Given the description of an element on the screen output the (x, y) to click on. 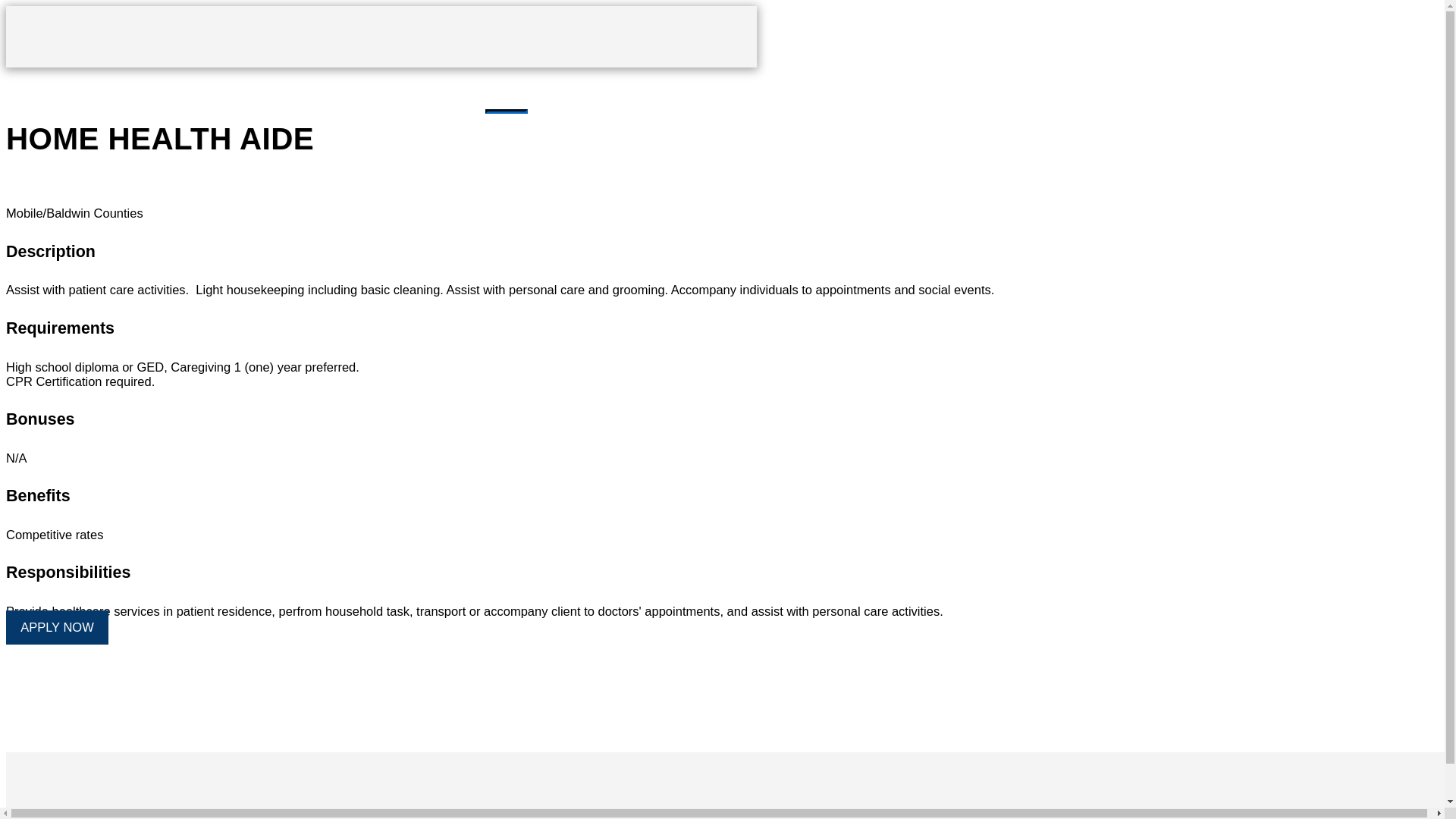
APPLY NOW (56, 627)
